Given the description of an element on the screen output the (x, y) to click on. 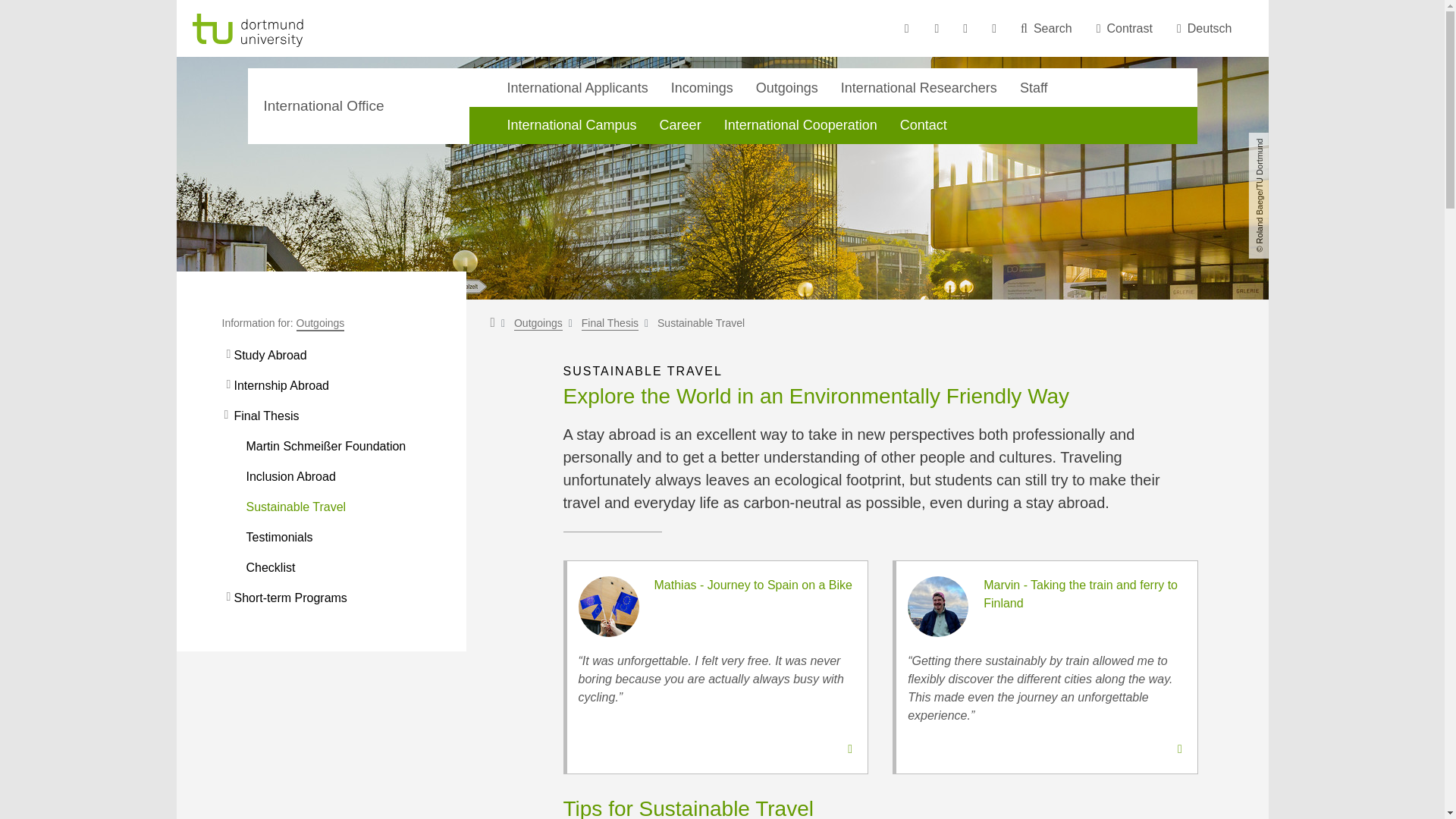
Contrast (1124, 28)
Deutsch (1204, 28)
Search (1046, 28)
To the home page (286, 29)
Contrast (1124, 28)
Search (1046, 28)
